Given the description of an element on the screen output the (x, y) to click on. 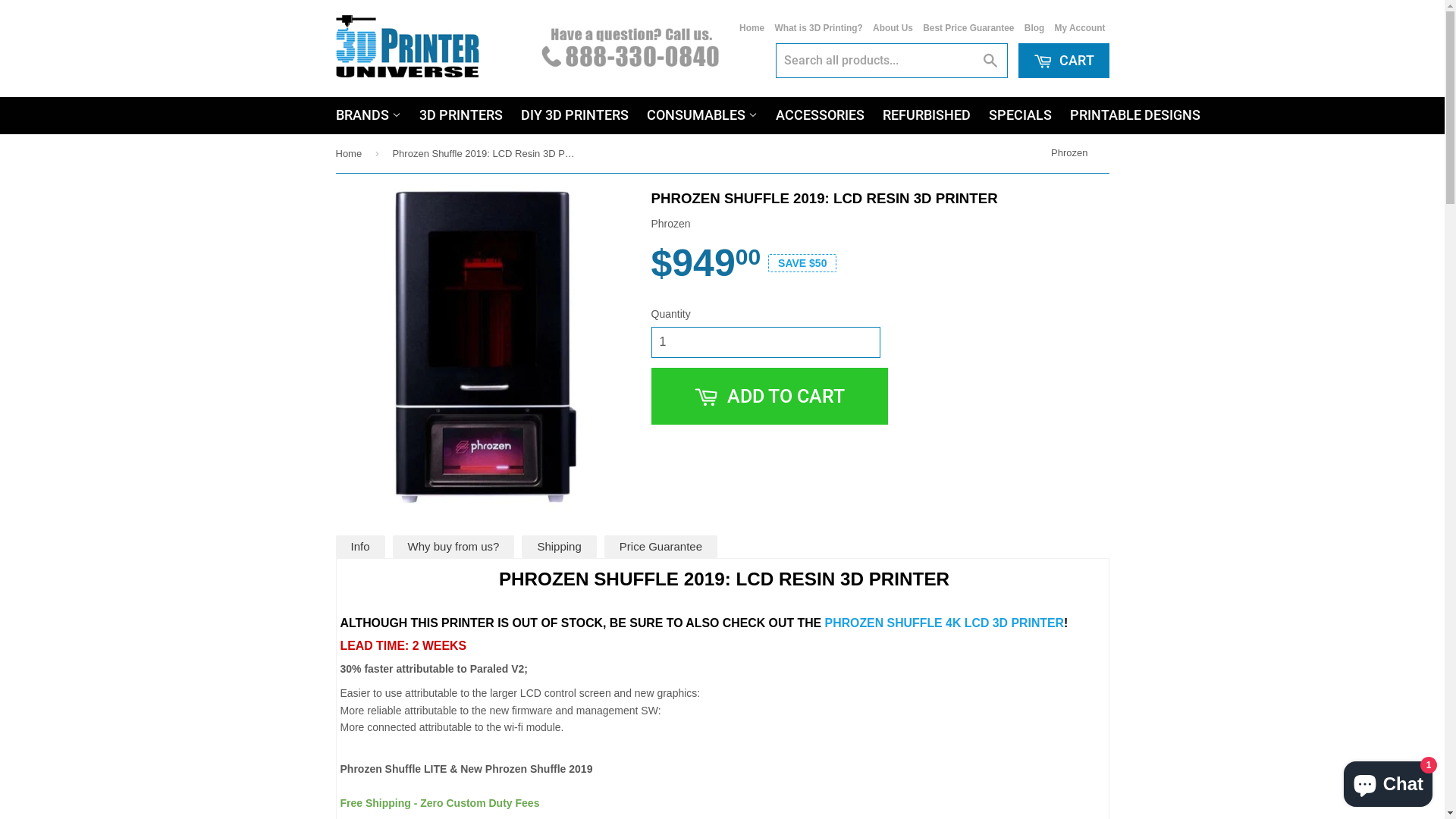
ADD TO CART Element type: text (768, 395)
Best Price Guarantee Element type: text (967, 27)
Home Element type: text (751, 27)
DIY 3D PRINTERS Element type: text (573, 115)
ACCESSORIES Element type: text (819, 115)
3D PRINTERS Element type: text (460, 115)
BRANDS Element type: text (367, 115)
Phrozen Element type: text (1071, 152)
Info Element type: text (359, 546)
Shipping Element type: text (558, 546)
Blog Element type: text (1034, 27)
About Us Element type: text (892, 27)
CONSUMABLES Element type: text (701, 115)
REFURBISHED Element type: text (926, 115)
SPECIALS Element type: text (1020, 115)
Shopify online store chat Element type: hover (1388, 780)
My Account Element type: text (1079, 27)
PHROZEN SHUFFLE 4K LCD 3D PRINTER Element type: text (944, 622)
Home Element type: text (351, 152)
CART Element type: text (1062, 60)
Search Element type: text (990, 61)
PRINTABLE DESIGNS Element type: text (1134, 115)
What is 3D Printing? Element type: text (818, 27)
Price Guarantee Element type: text (660, 546)
Why buy from us? Element type: text (453, 546)
